Given the description of an element on the screen output the (x, y) to click on. 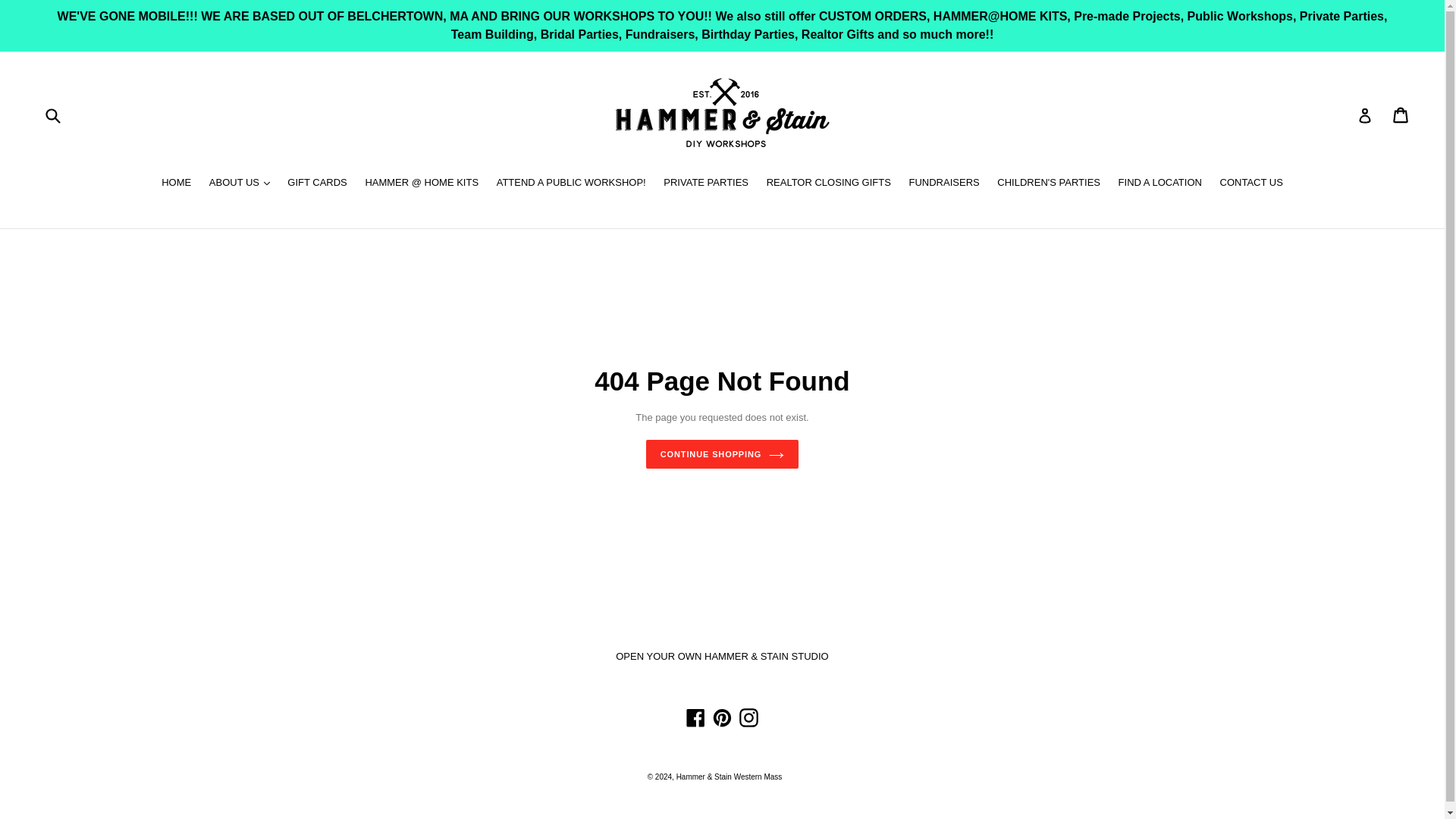
FIND A LOCATION (1159, 183)
REALTOR CLOSING GIFTS (828, 183)
CONTINUE SHOPPING (722, 454)
FUNDRAISERS (944, 183)
GIFT CARDS (317, 183)
Facebook (695, 717)
ATTEND A PUBLIC WORKSHOP! (571, 183)
CHILDREN'S PARTIES (1049, 183)
CONTACT US (1251, 183)
HOME (176, 183)
